Given the description of an element on the screen output the (x, y) to click on. 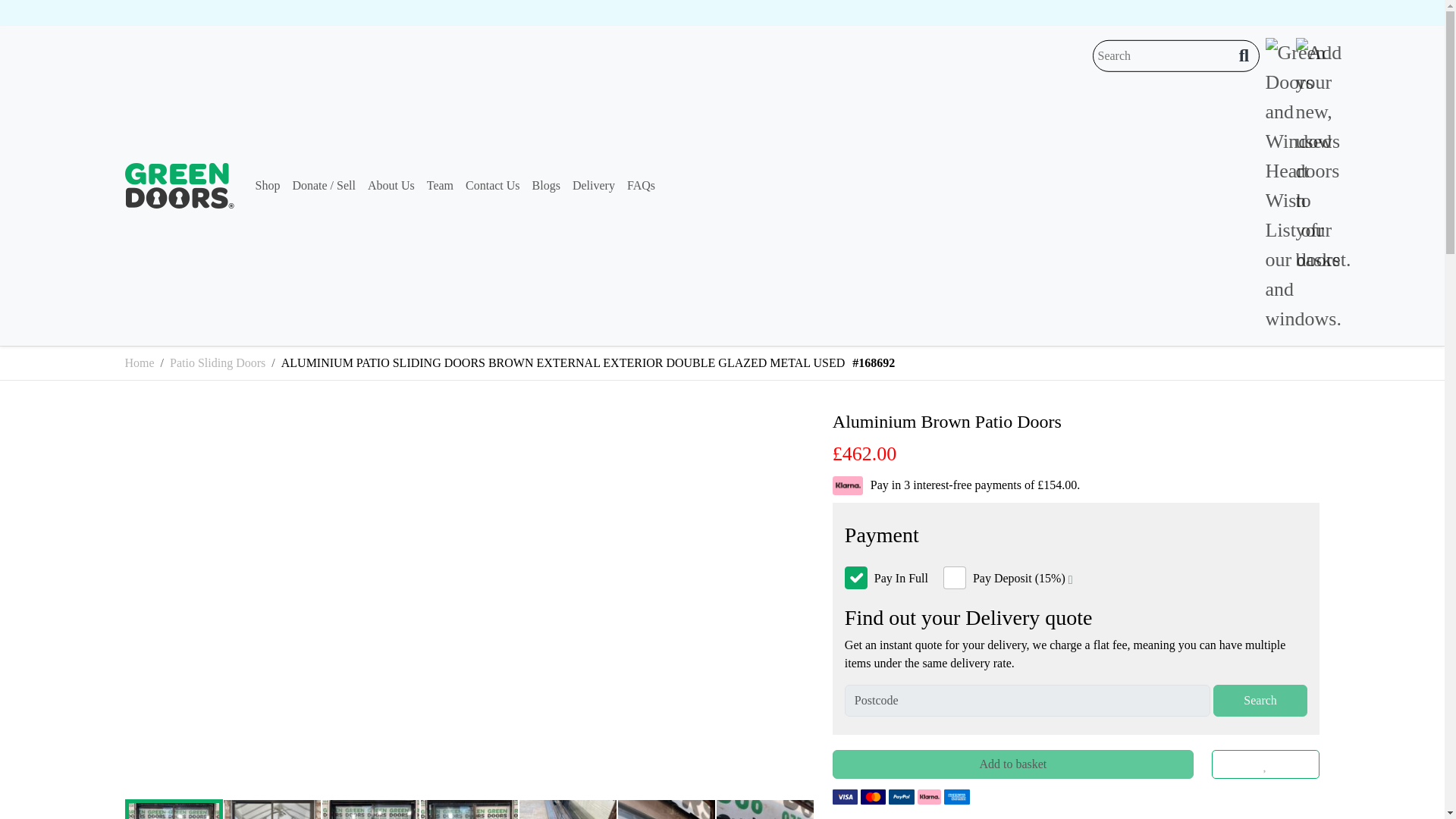
deposit (954, 577)
Blogs (545, 185)
Team (440, 185)
About Us (390, 185)
Shop (266, 185)
FAQs (641, 185)
Home (138, 362)
Delivery (593, 185)
full (855, 577)
Contact Us (492, 185)
